Given the description of an element on the screen output the (x, y) to click on. 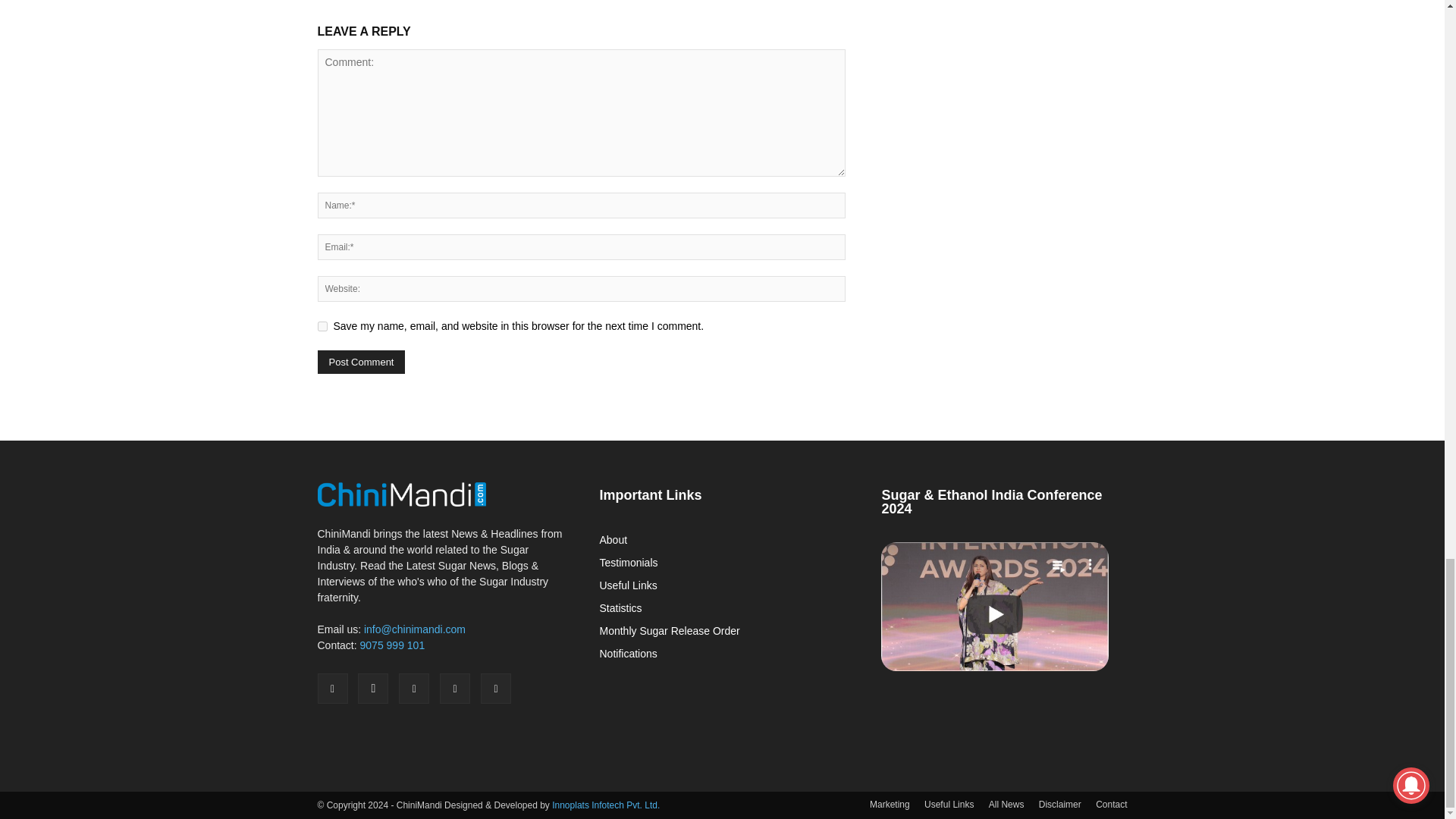
yes (321, 326)
Post Comment (360, 361)
